Given the description of an element on the screen output the (x, y) to click on. 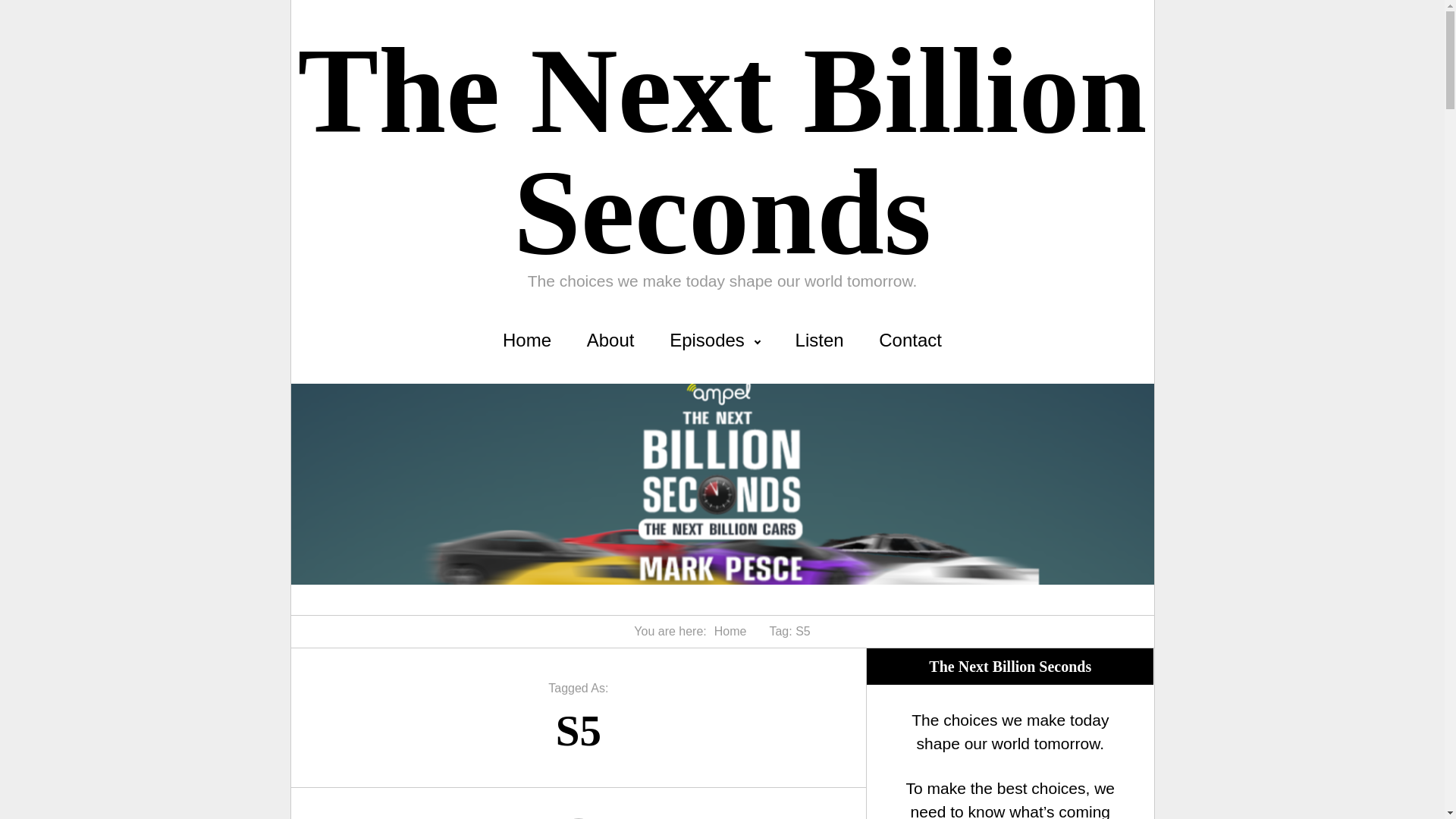
About (610, 340)
Episodes (714, 340)
Home (526, 340)
